Given the description of an element on the screen output the (x, y) to click on. 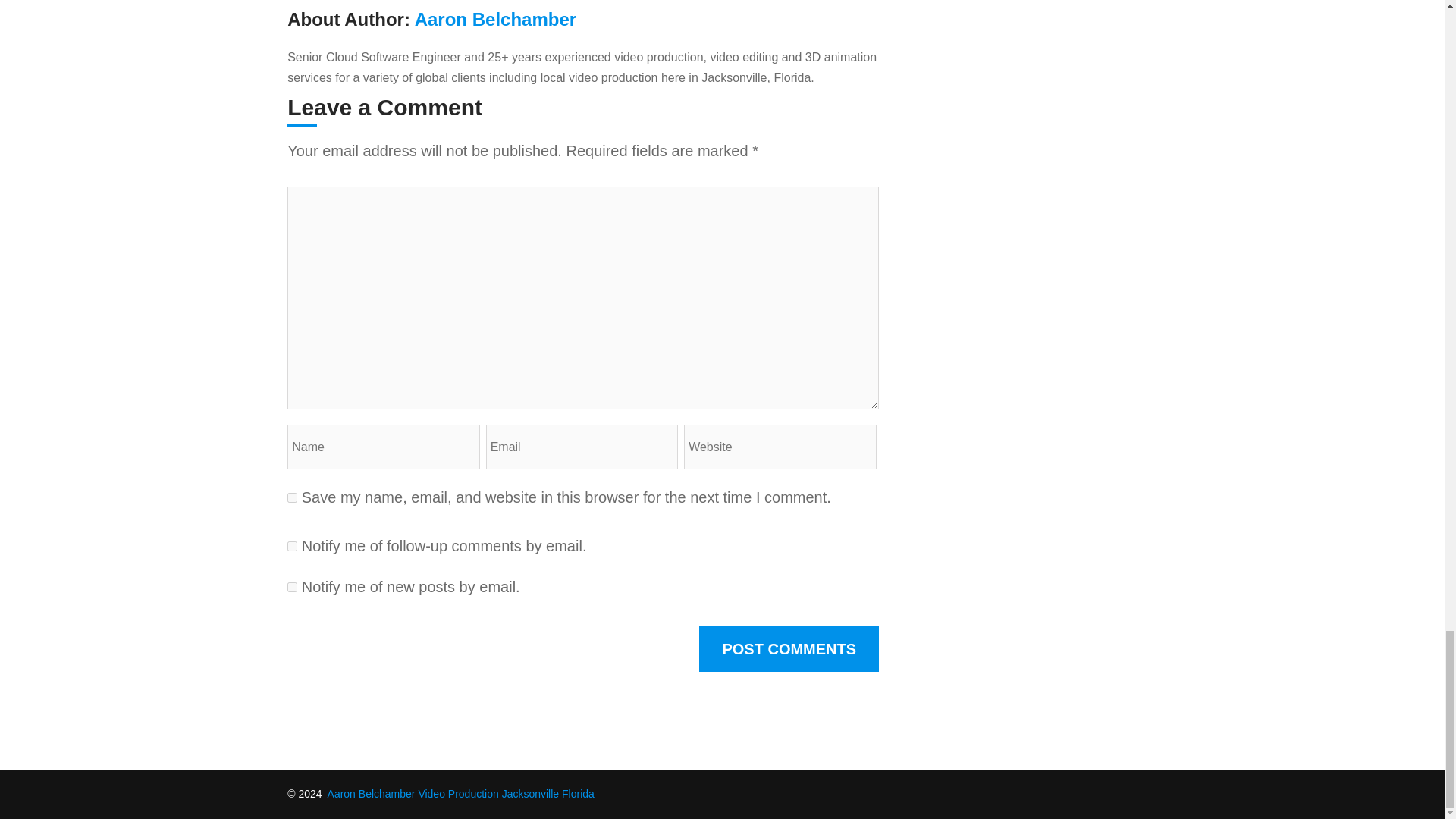
Posts by Aaron Belchamber (495, 19)
subscribe (291, 587)
Post Comments (788, 648)
subscribe (291, 546)
yes (291, 497)
